Given the description of an element on the screen output the (x, y) to click on. 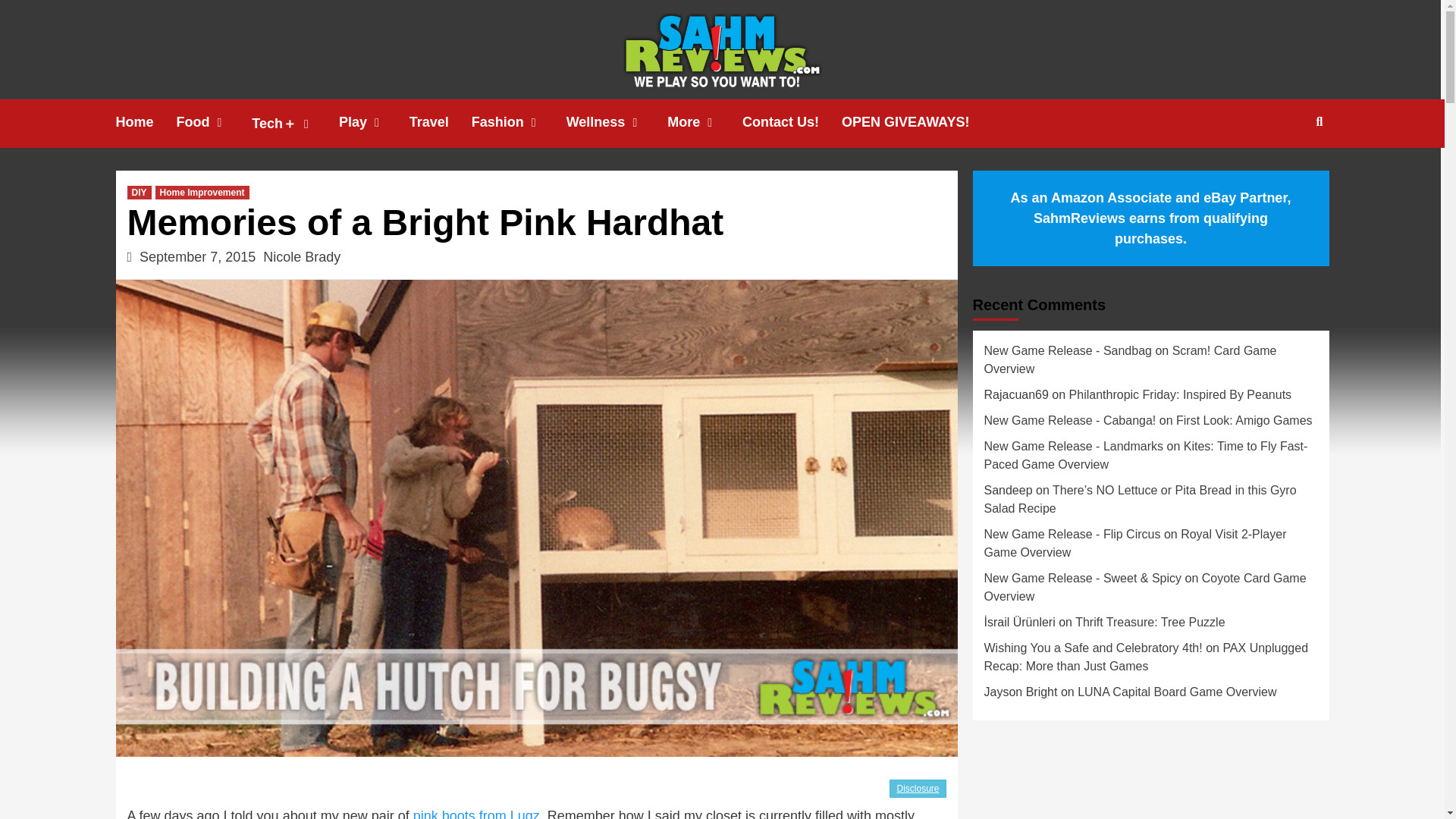
Wellness (617, 122)
Play (374, 122)
Fashion (518, 122)
More (704, 122)
Travel (440, 122)
Food (213, 122)
Home (145, 122)
